Given the description of an element on the screen output the (x, y) to click on. 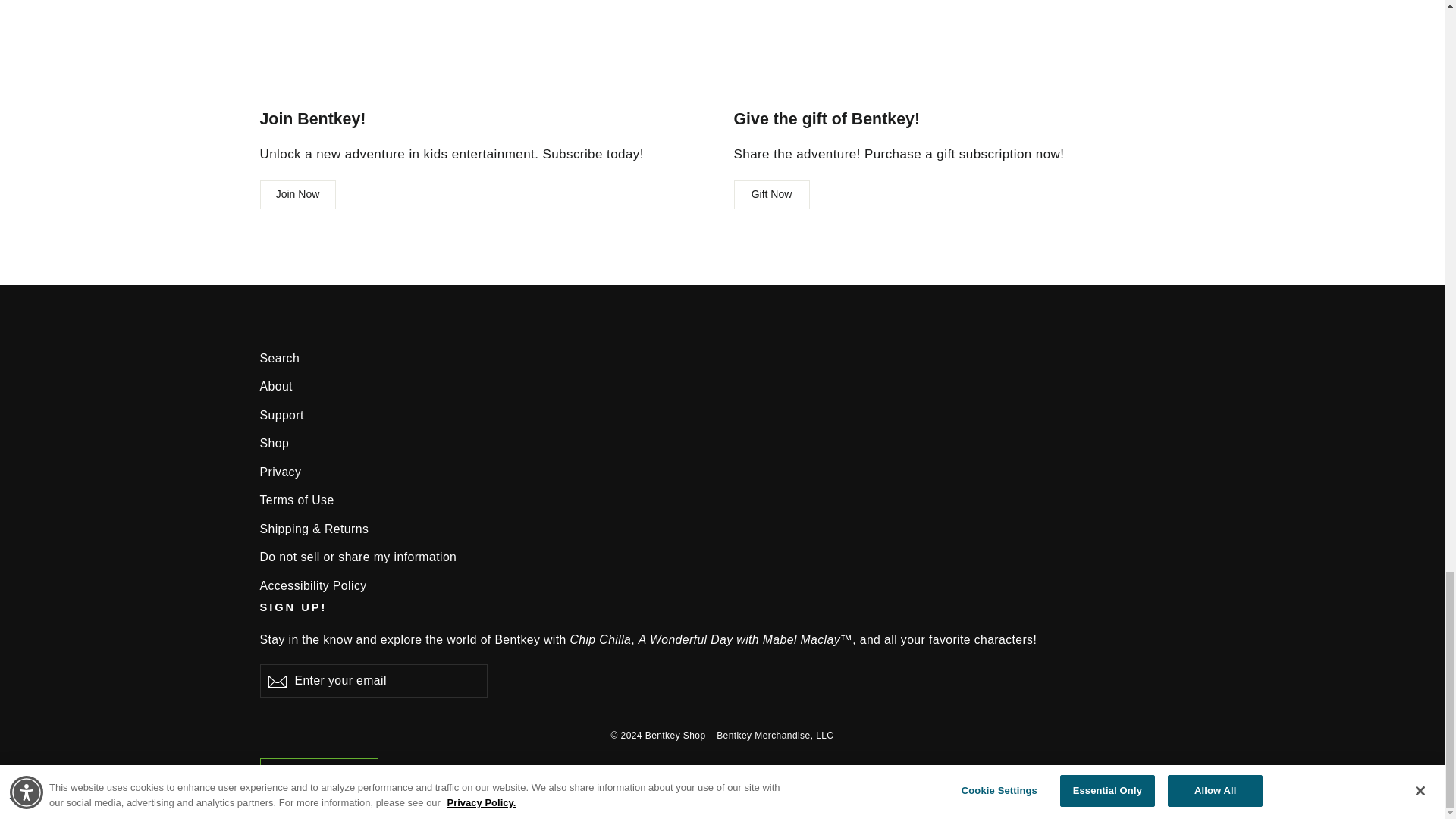
icon-email (276, 681)
